Given the description of an element on the screen output the (x, y) to click on. 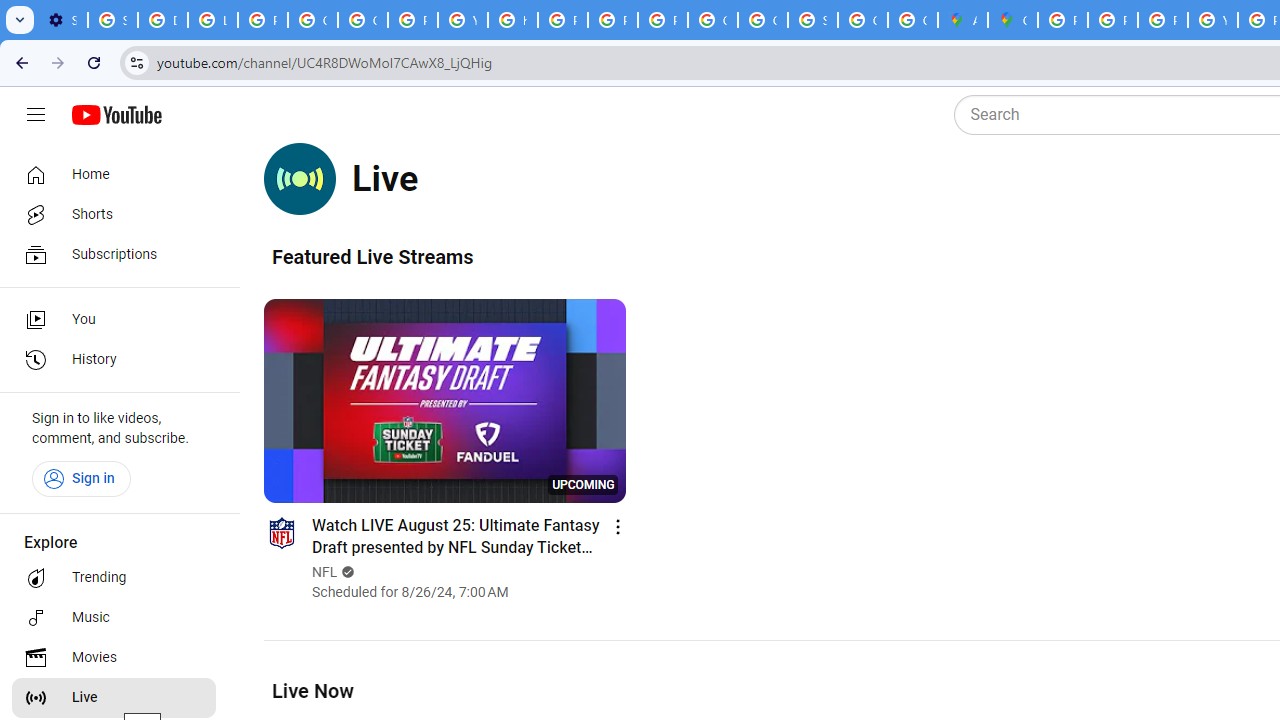
Sign in - Google Accounts (813, 20)
NFL (325, 572)
Live (113, 697)
Shorts (113, 214)
